Given the description of an element on the screen output the (x, y) to click on. 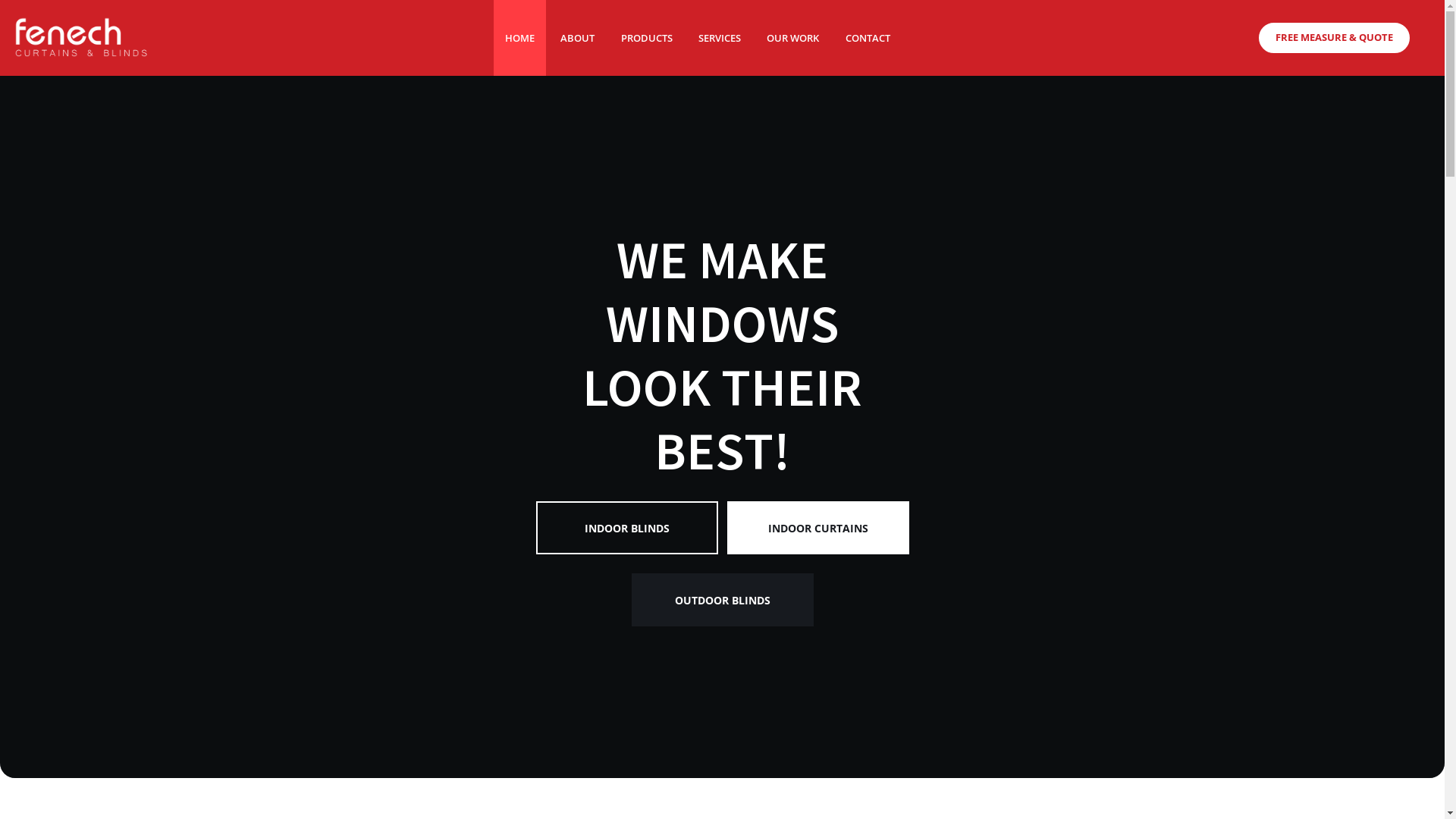
HOME Element type: text (519, 37)
OUTDOOR BLINDS Element type: text (721, 599)
PRODUCTS Element type: text (646, 37)
OUR WORK Element type: text (792, 37)
INDOOR CURTAINS Element type: text (817, 527)
ABOUT Element type: text (577, 37)
FREE MEASURE & QUOTE Element type: text (1333, 37)
INDOOR BLINDS Element type: text (627, 526)
SERVICES Element type: text (719, 37)
INDOOR CURTAINS Element type: text (817, 526)
OUTDOOR BLINDS Element type: text (722, 626)
CONTACT Element type: text (867, 37)
INDOOR BLINDS Element type: text (626, 527)
